Given the description of an element on the screen output the (x, y) to click on. 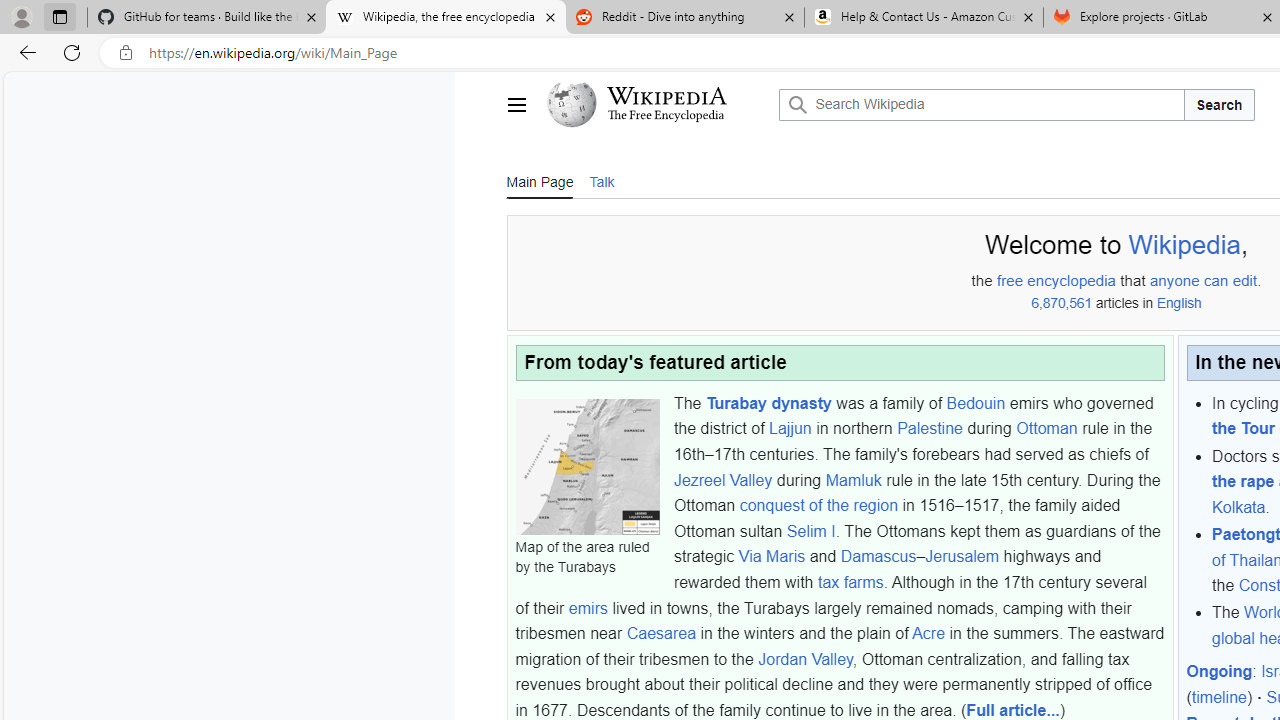
Main menu (516, 104)
Wikipedia, the free encyclopedia (445, 17)
Search Wikipedia (981, 104)
English (1178, 303)
anyone can edit (1203, 281)
The Free Encyclopedia (666, 116)
Mamluk (853, 479)
Palestine (929, 428)
Lajjun (790, 428)
Talk (601, 180)
Ottoman (1046, 428)
Jezreel Valley (723, 479)
emirs (588, 608)
